Given the description of an element on the screen output the (x, y) to click on. 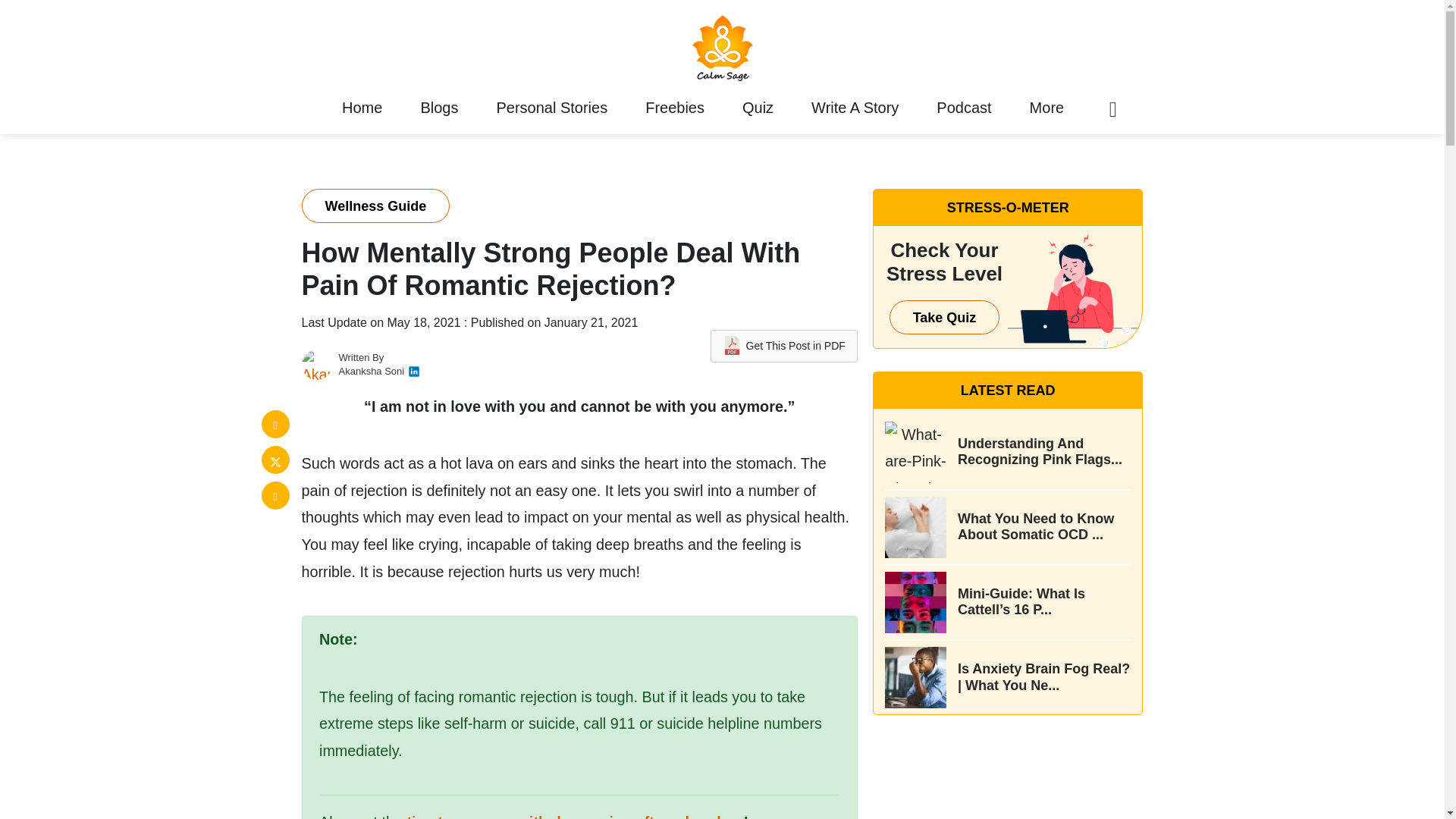
Blogs (438, 107)
Write A Story (854, 107)
Quiz (757, 107)
Written By (360, 357)
More (1046, 107)
tips to cope up with depression after a breakup (574, 816)
Podcast (963, 107)
Akanksha Soni (370, 370)
Home (361, 107)
Wellness Guide (375, 205)
Freebies (674, 107)
Personal Stories (551, 107)
SEARCH (1075, 408)
Get This Post in PDF (783, 346)
